Given the description of an element on the screen output the (x, y) to click on. 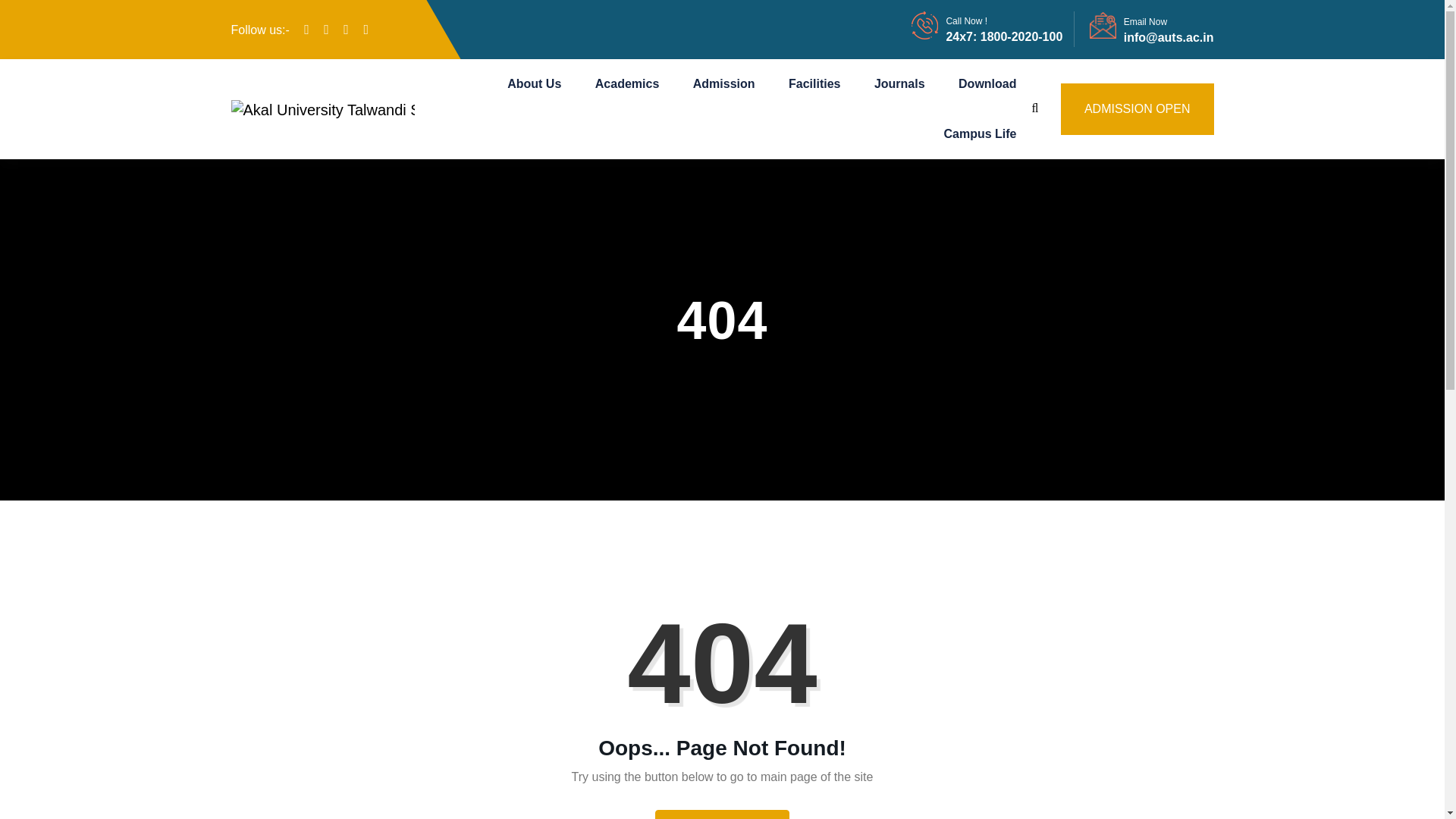
Academics (627, 83)
1800-2020-100 (1019, 36)
About Us (533, 83)
The First Choice Of Toppers (321, 109)
